Given the description of an element on the screen output the (x, y) to click on. 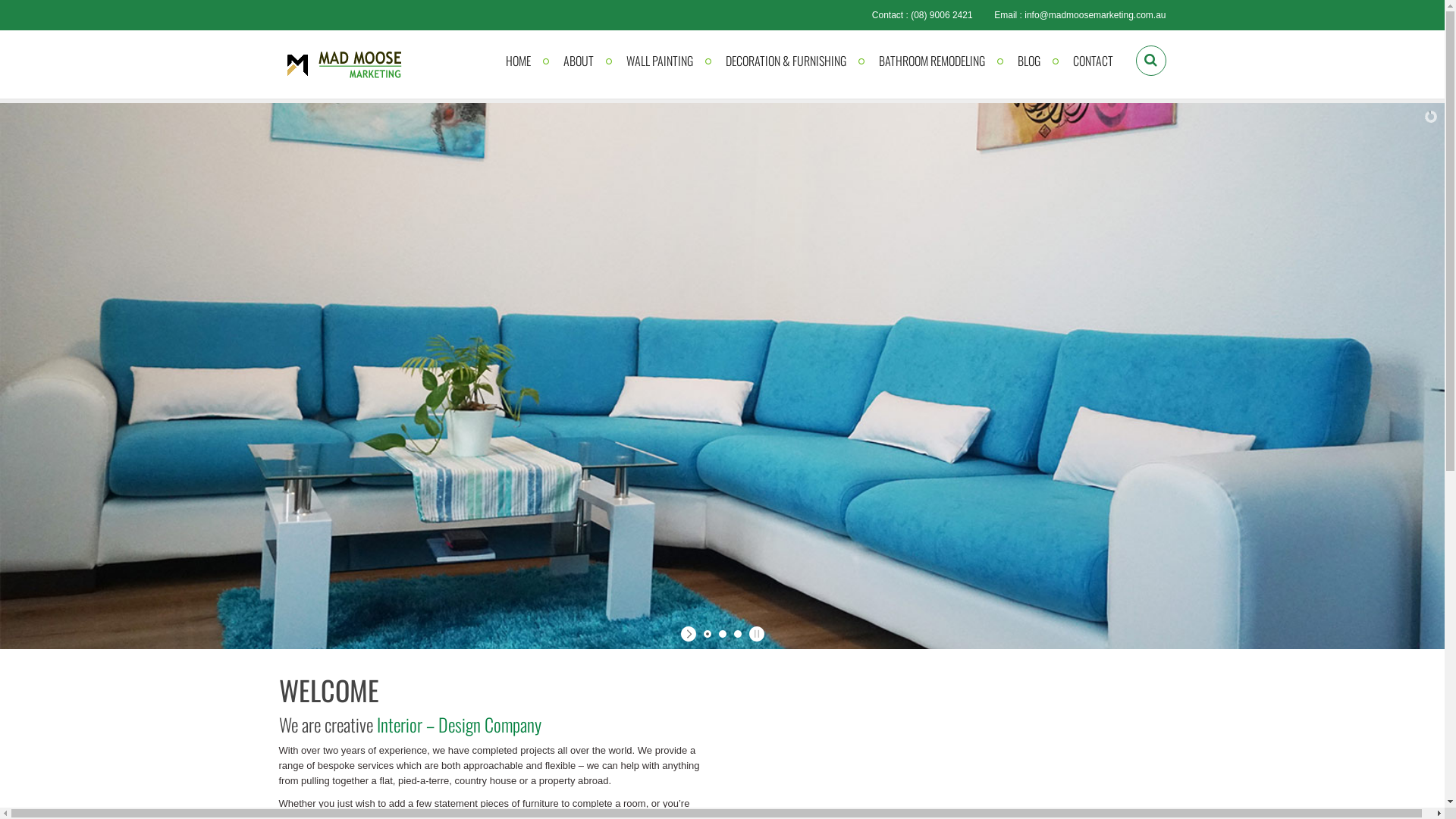
HOME Element type: text (517, 60)
DECORATION & FURNISHING Element type: text (784, 60)
BATHROOM REMODELING Element type: text (930, 60)
CONTACT Element type: text (1092, 60)
WALL PAINTING Element type: text (659, 60)
BLOG Element type: text (1028, 60)
ABOUT Element type: text (577, 60)
